Given the description of an element on the screen output the (x, y) to click on. 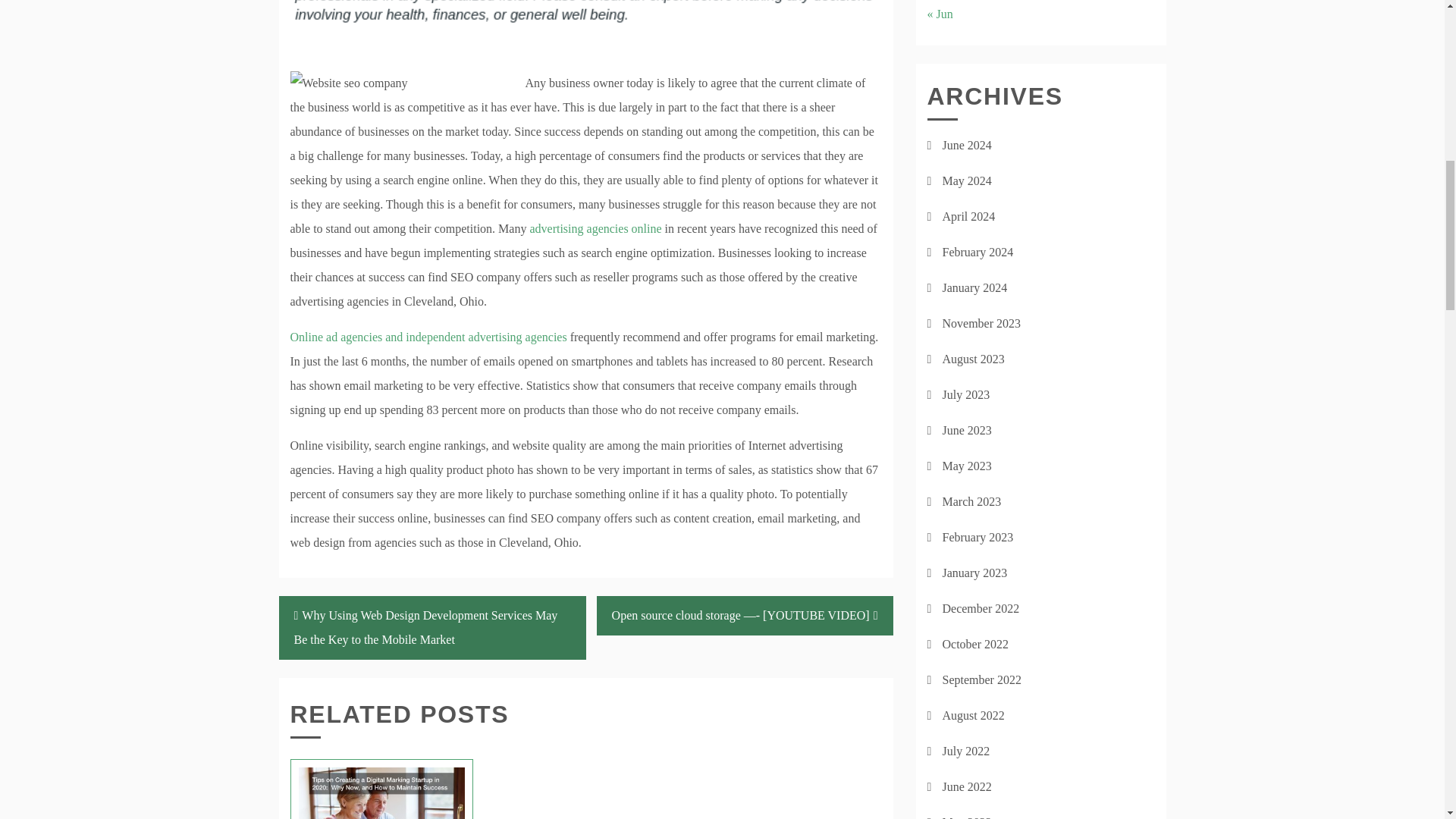
June 2024 (966, 144)
March 2023 (971, 501)
February 2024 (977, 251)
Read more on Website design and development companies (427, 336)
July 2023 (966, 394)
May 2024 (966, 180)
August 2023 (973, 358)
Online ad agencies and independent advertising agencies (427, 336)
May 2023 (966, 465)
January 2023 (974, 572)
